Given the description of an element on the screen output the (x, y) to click on. 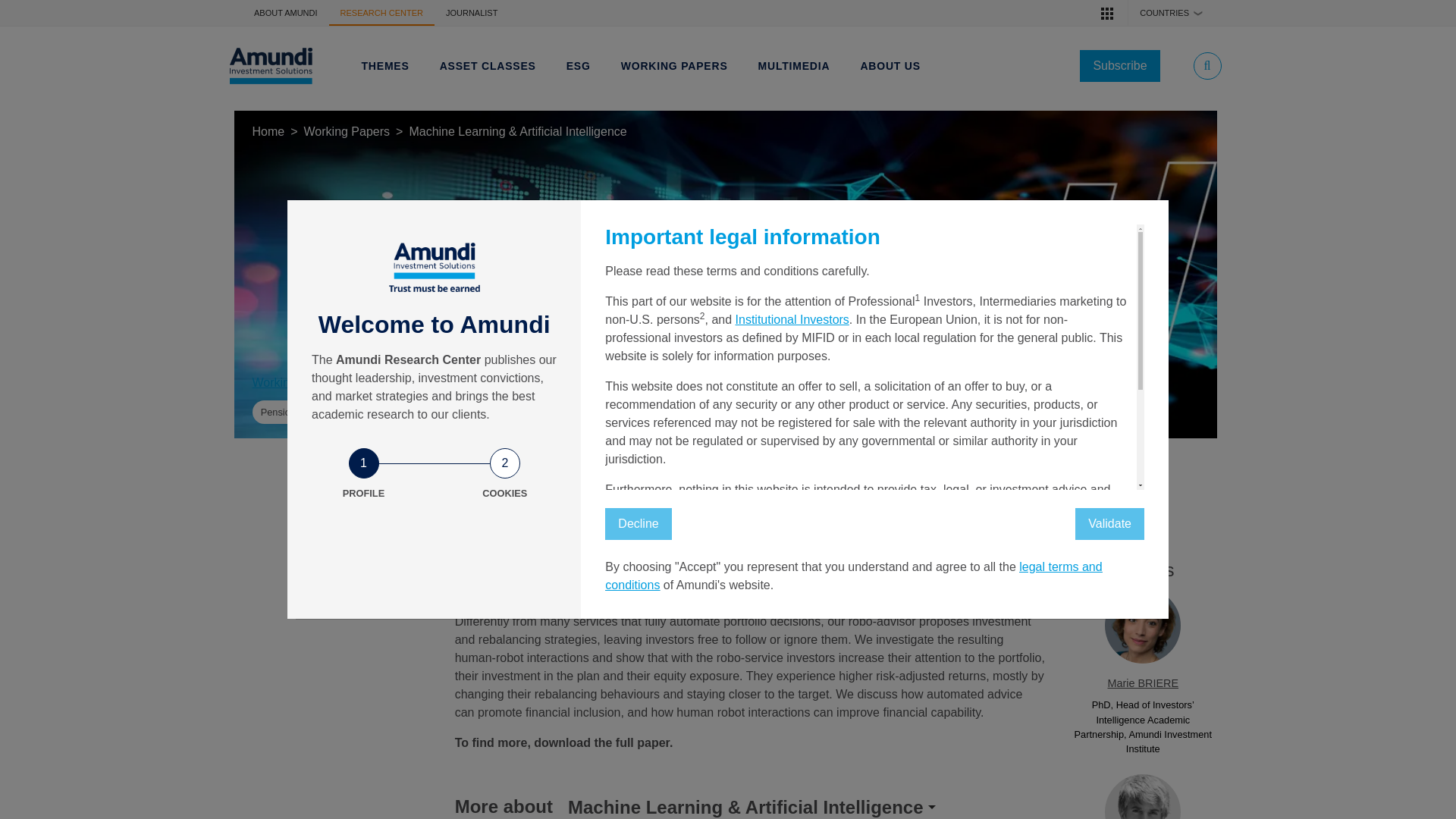
Amundi Research Center (270, 66)
RESEARCH CENTER (381, 12)
JOURNALIST (470, 12)
THEMES (384, 65)
ASSET CLASSES (487, 65)
ABOUT AMUNDI (286, 12)
WORKING PAPERS (673, 65)
ESG (578, 65)
